Given the description of an element on the screen output the (x, y) to click on. 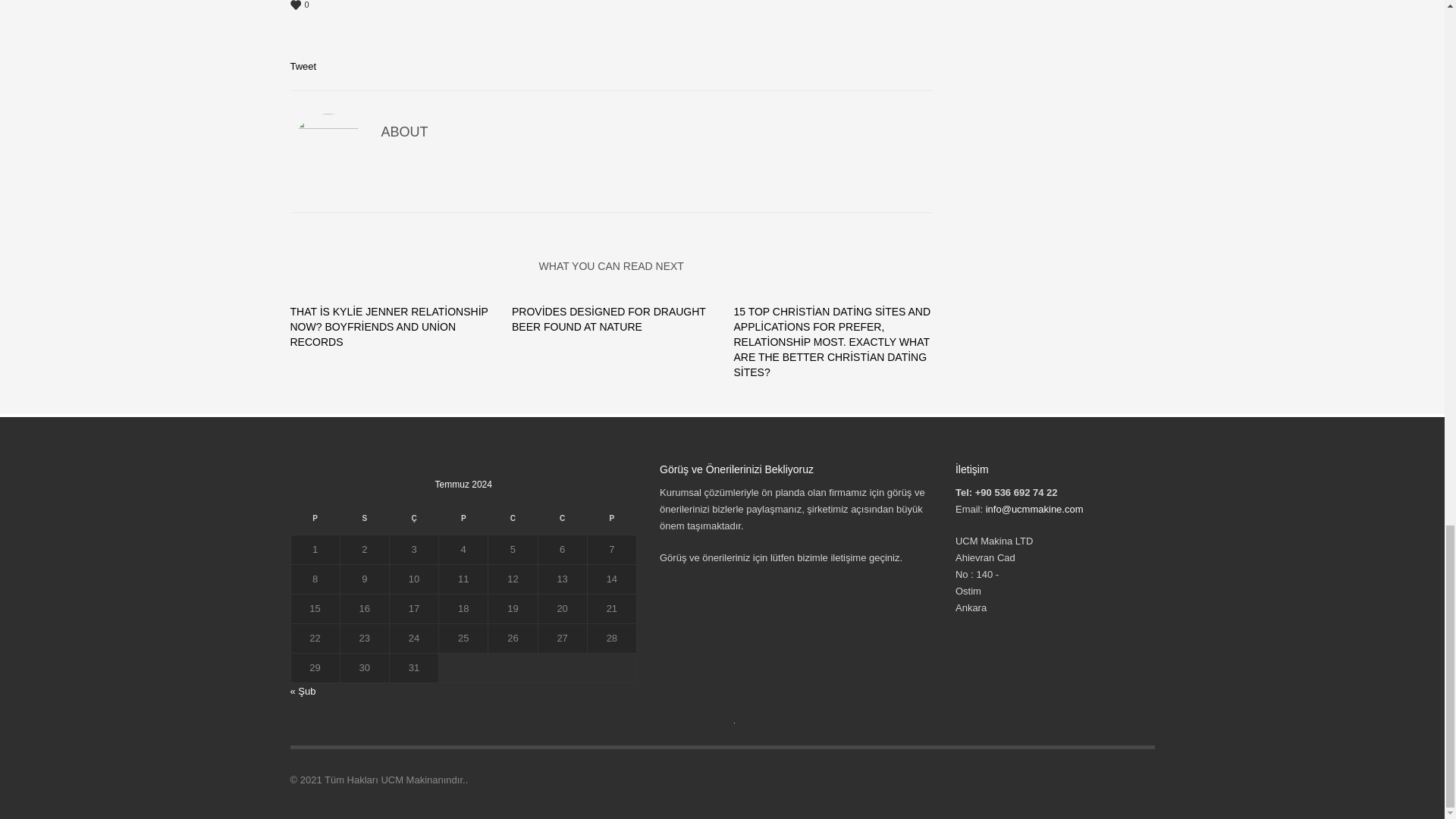
PROVIDES DESIGNED FOR DRAUGHT BEER FOUND AT NATURE (609, 318)
Pazartesi (314, 522)
Tweet (302, 66)
0 (611, 6)
Pazar (611, 522)
Cuma (512, 522)
Cumartesi (561, 522)
